Given the description of an element on the screen output the (x, y) to click on. 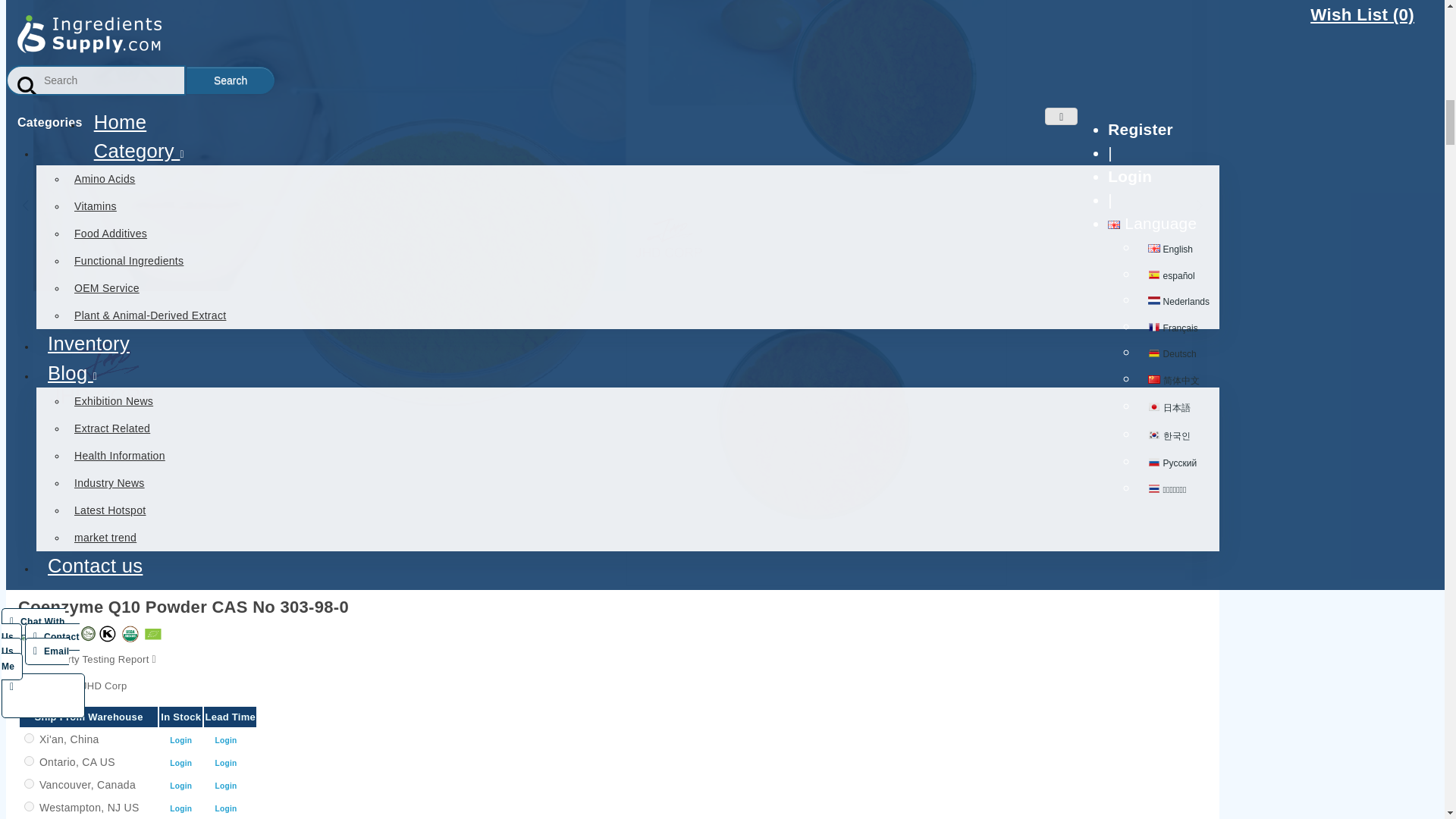
3 (28, 782)
4 (28, 805)
2 (28, 759)
1 (28, 737)
